Given the description of an element on the screen output the (x, y) to click on. 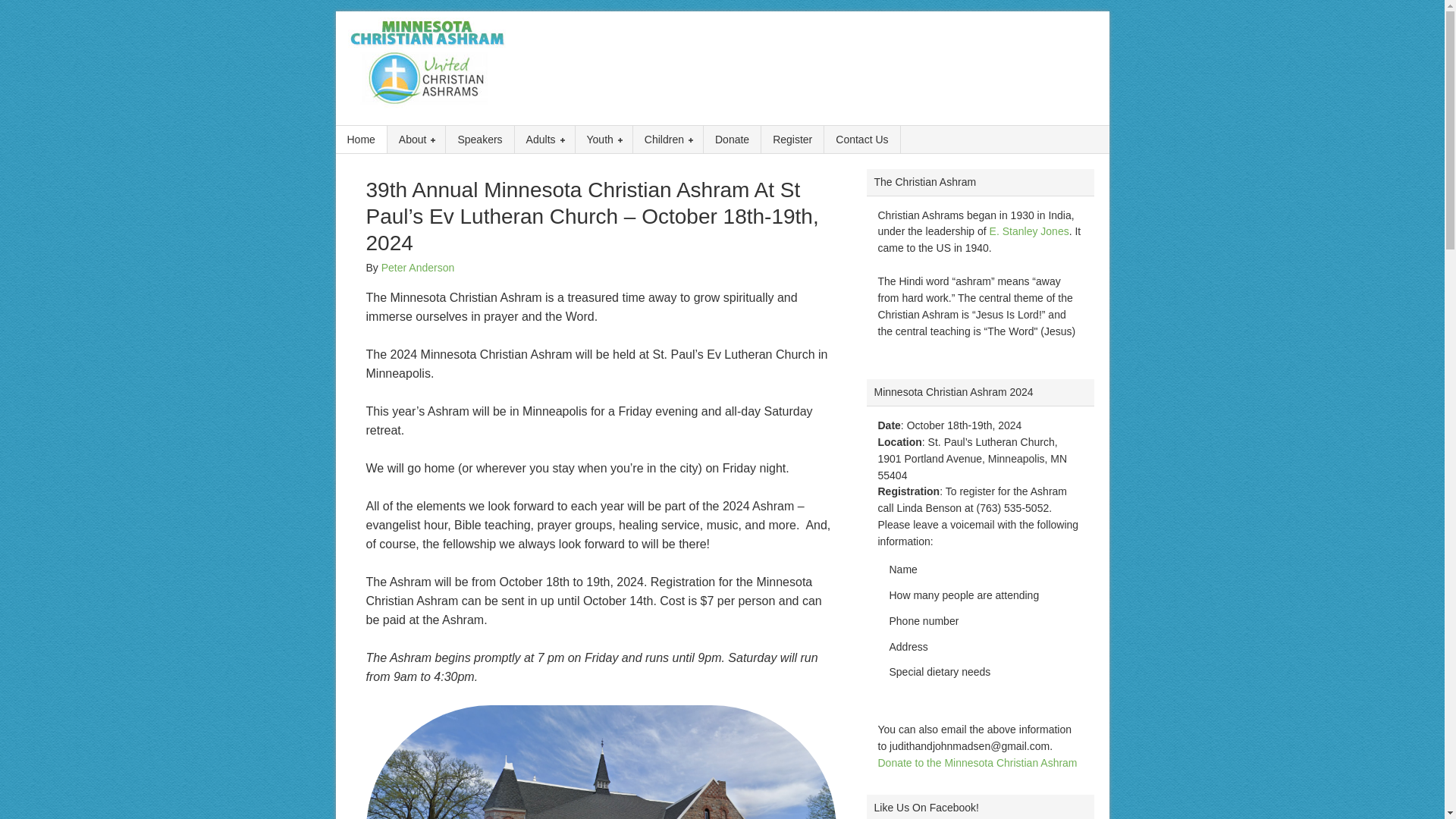
Contact Us (861, 139)
Donate (732, 139)
Peter Anderson (417, 267)
Home (360, 139)
Speakers (479, 139)
About (416, 139)
E. Stanley Jones (1029, 231)
Children (668, 139)
Youth (604, 139)
Adults (545, 139)
